Given the description of an element on the screen output the (x, y) to click on. 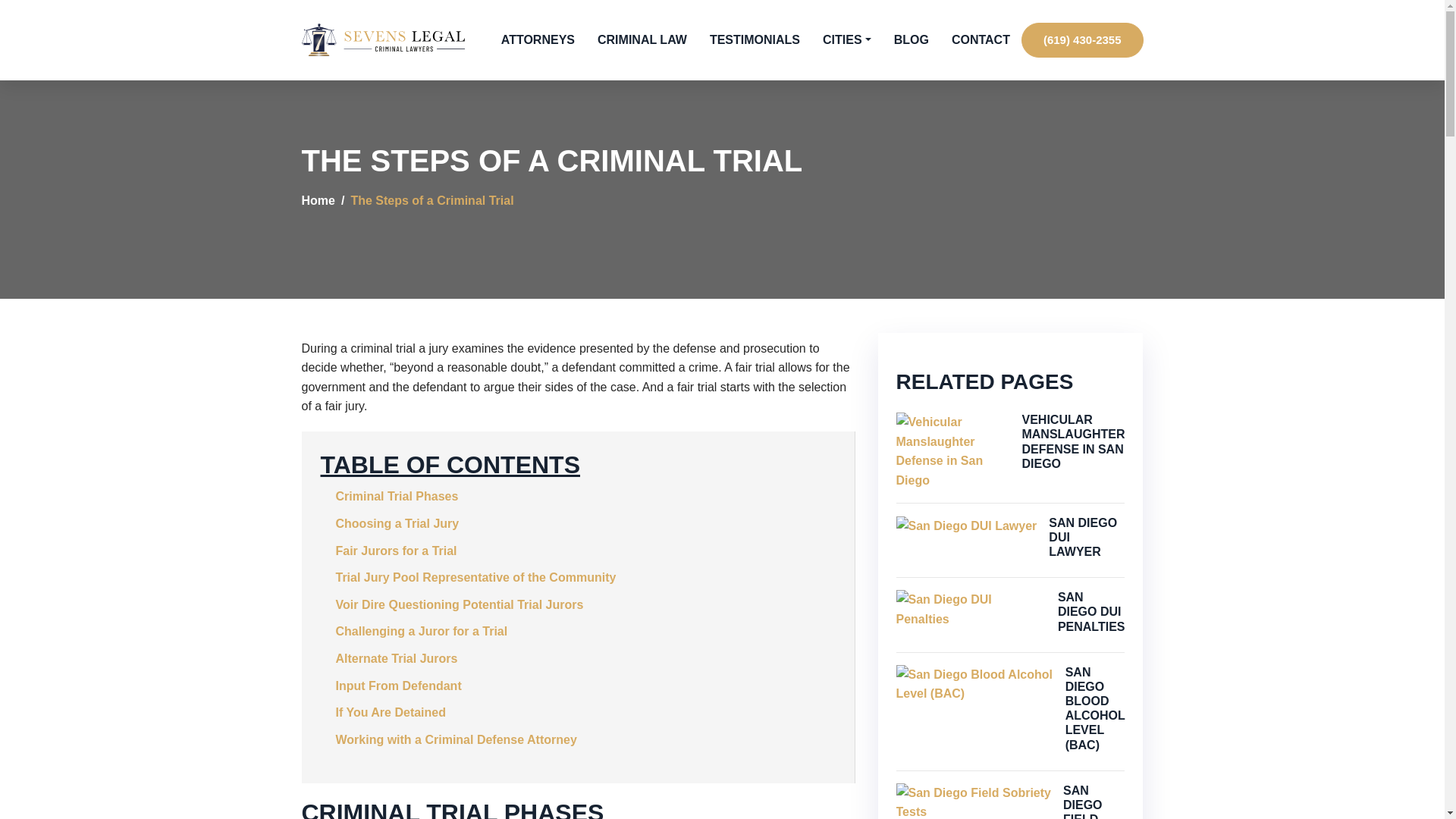
Criminal Trial Phases (396, 495)
San Diego Field Sobriety Tests (973, 800)
Input From Defendant (397, 685)
Choosing a Trial Jury (396, 522)
Trial Jury Pool Representative of the Community (474, 576)
Voir Dire Questioning Potential Trial Jurors (458, 604)
Fair Jurors for a Trial (395, 550)
If You Are Detained (389, 712)
VEHICULAR MANSLAUGHTER DEFENSE IN SAN DIEGO (1073, 441)
Working with a Criminal Defense Attorney (455, 739)
